Given the description of an element on the screen output the (x, y) to click on. 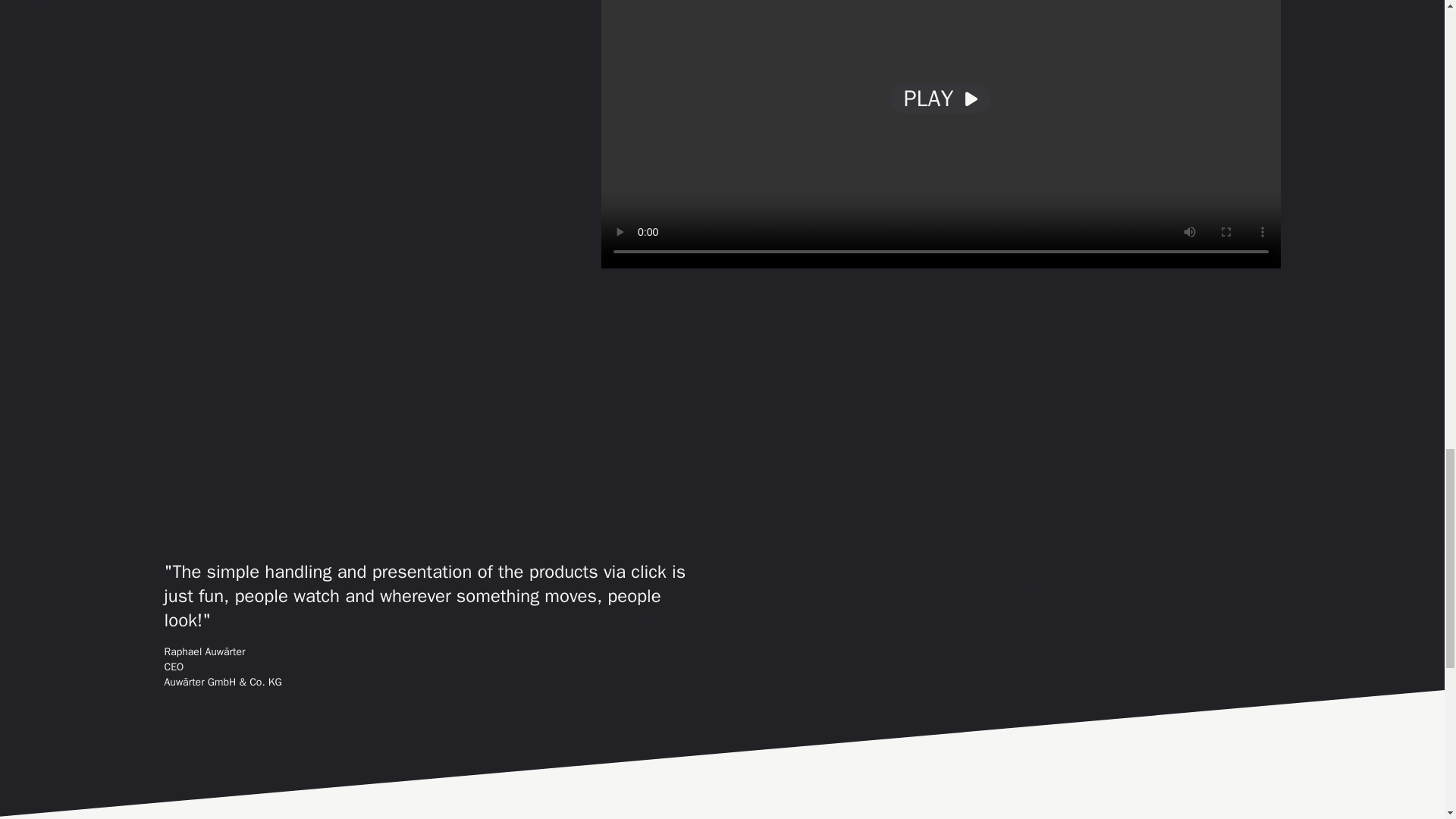
PLAY (940, 98)
